Given the description of an element on the screen output the (x, y) to click on. 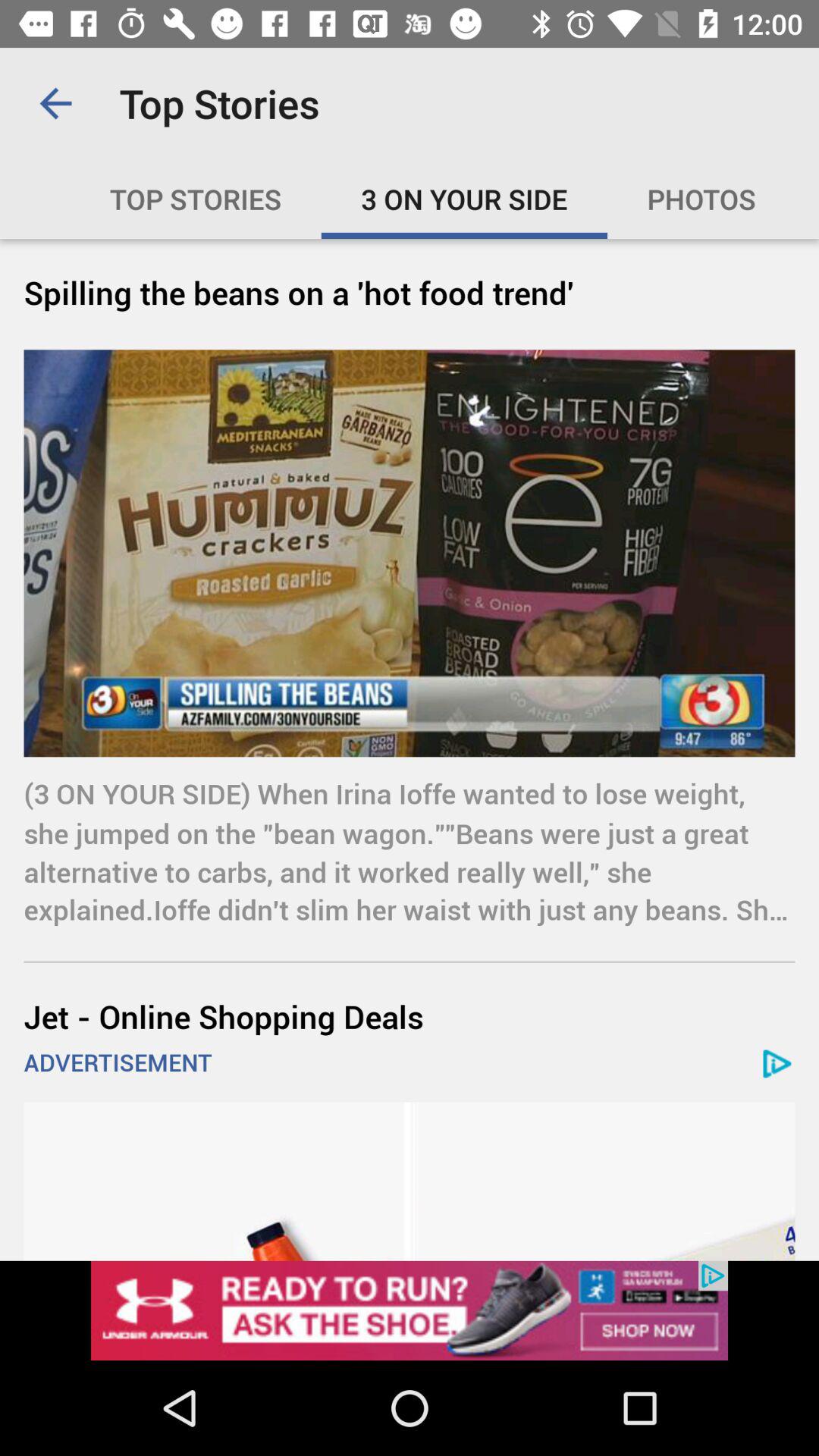
advertisement for under armour (409, 1310)
